Given the description of an element on the screen output the (x, y) to click on. 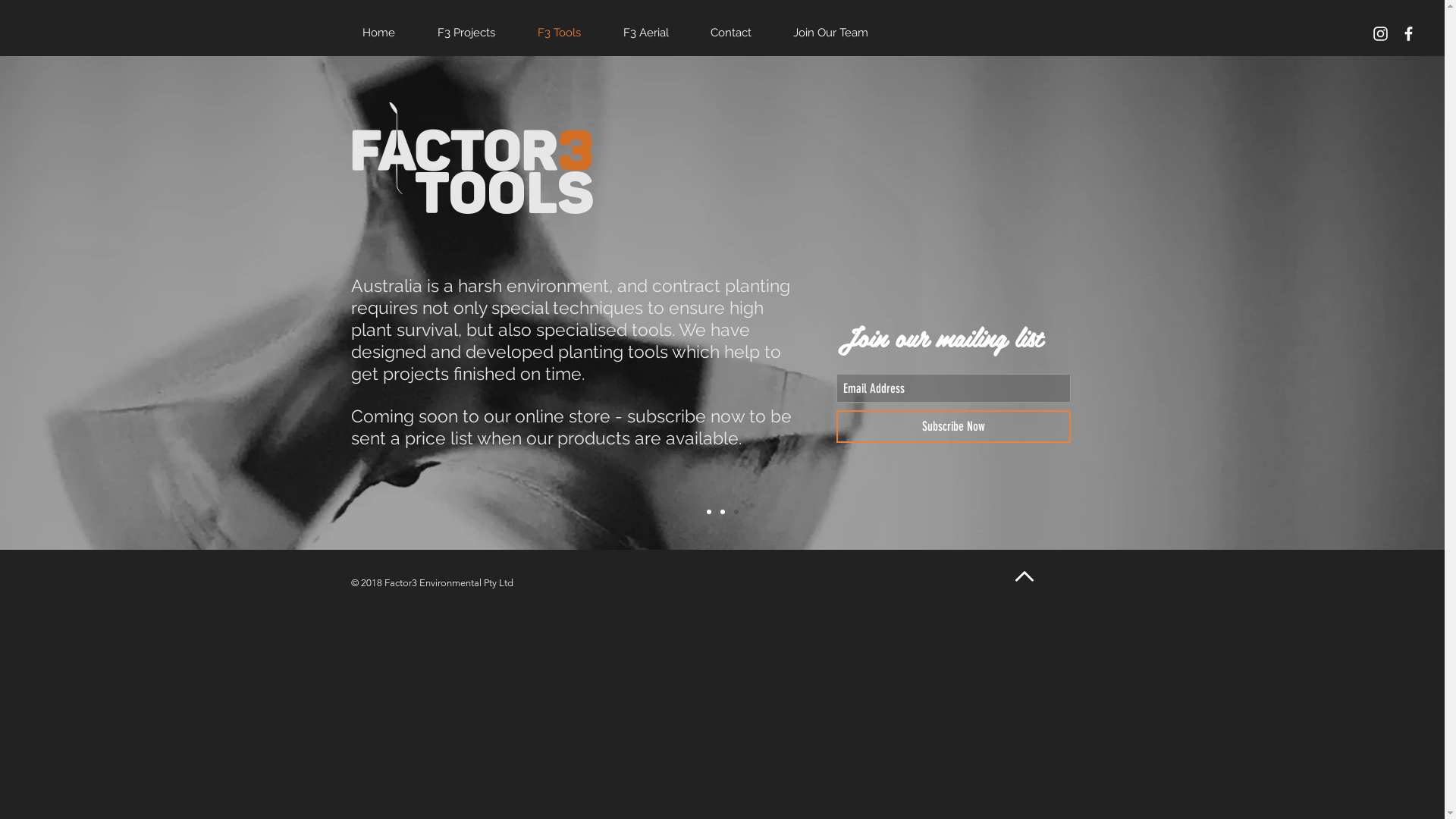
F3 Aerial Element type: text (654, 32)
F3 Tools Element type: text (568, 32)
Contact Element type: text (740, 32)
Home Element type: text (387, 32)
Join Our Team Element type: text (839, 32)
F3 Projects Element type: text (476, 32)
Subscribe Now Element type: text (952, 426)
